Given the description of an element on the screen output the (x, y) to click on. 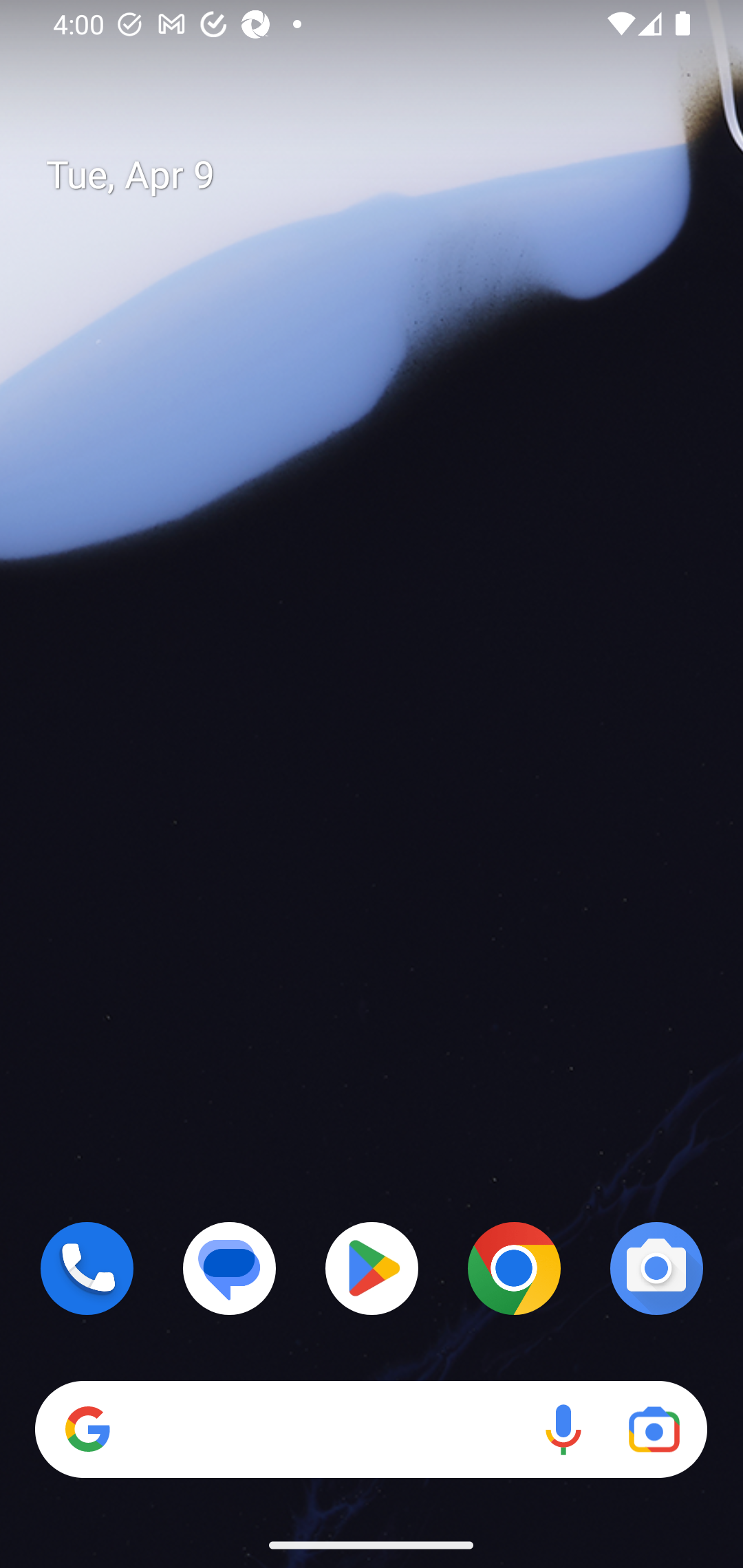
Tue, Apr 9 (386, 175)
Phone (86, 1268)
Messages (229, 1268)
Play Store (371, 1268)
Chrome (513, 1268)
Camera (656, 1268)
Voice search (562, 1429)
Google Lens (653, 1429)
